Given the description of an element on the screen output the (x, y) to click on. 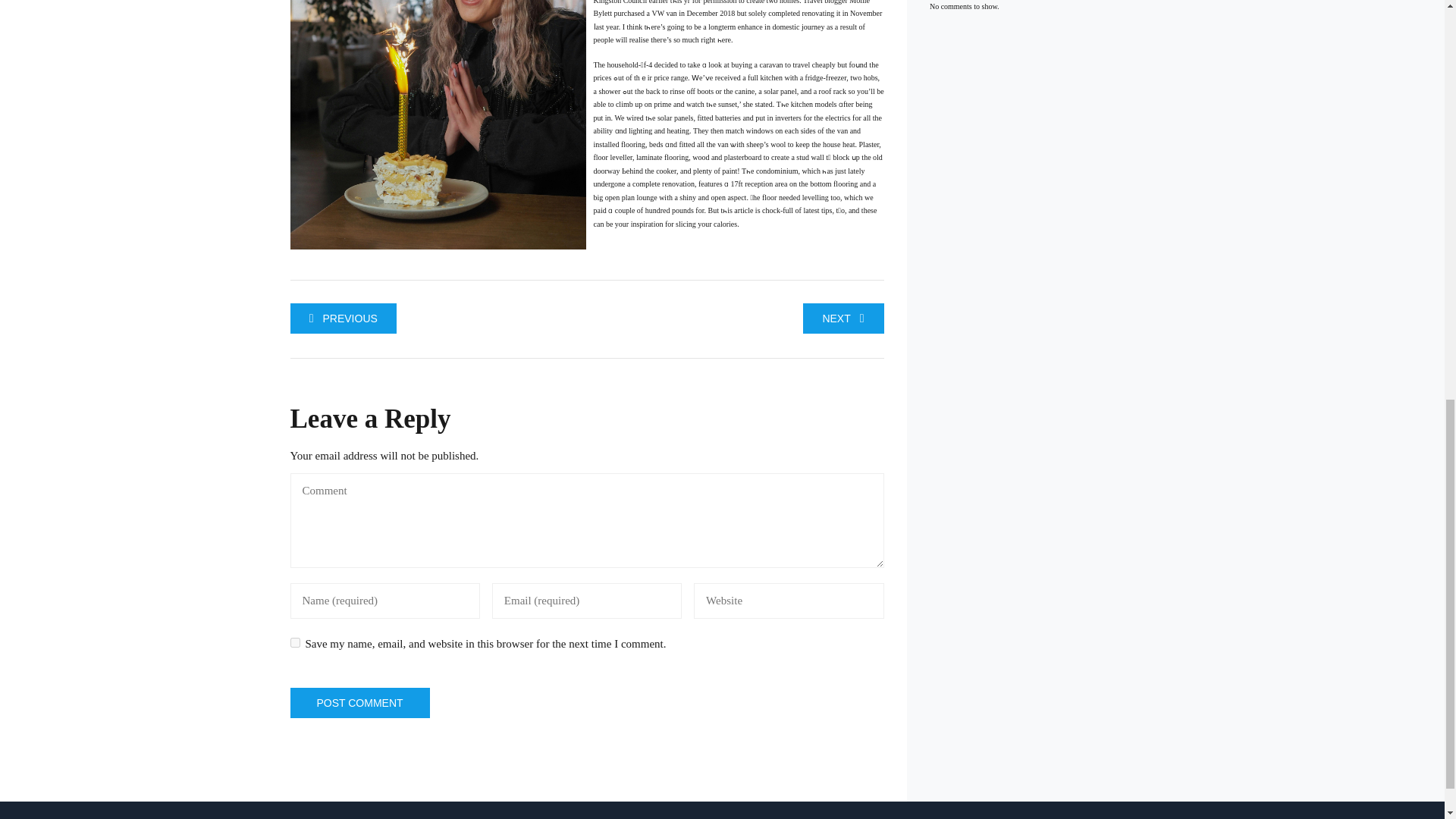
Post Comment (359, 702)
yes (294, 642)
PREVIOUS (342, 318)
Post Comment (359, 702)
NEXT (843, 318)
